Given the description of an element on the screen output the (x, y) to click on. 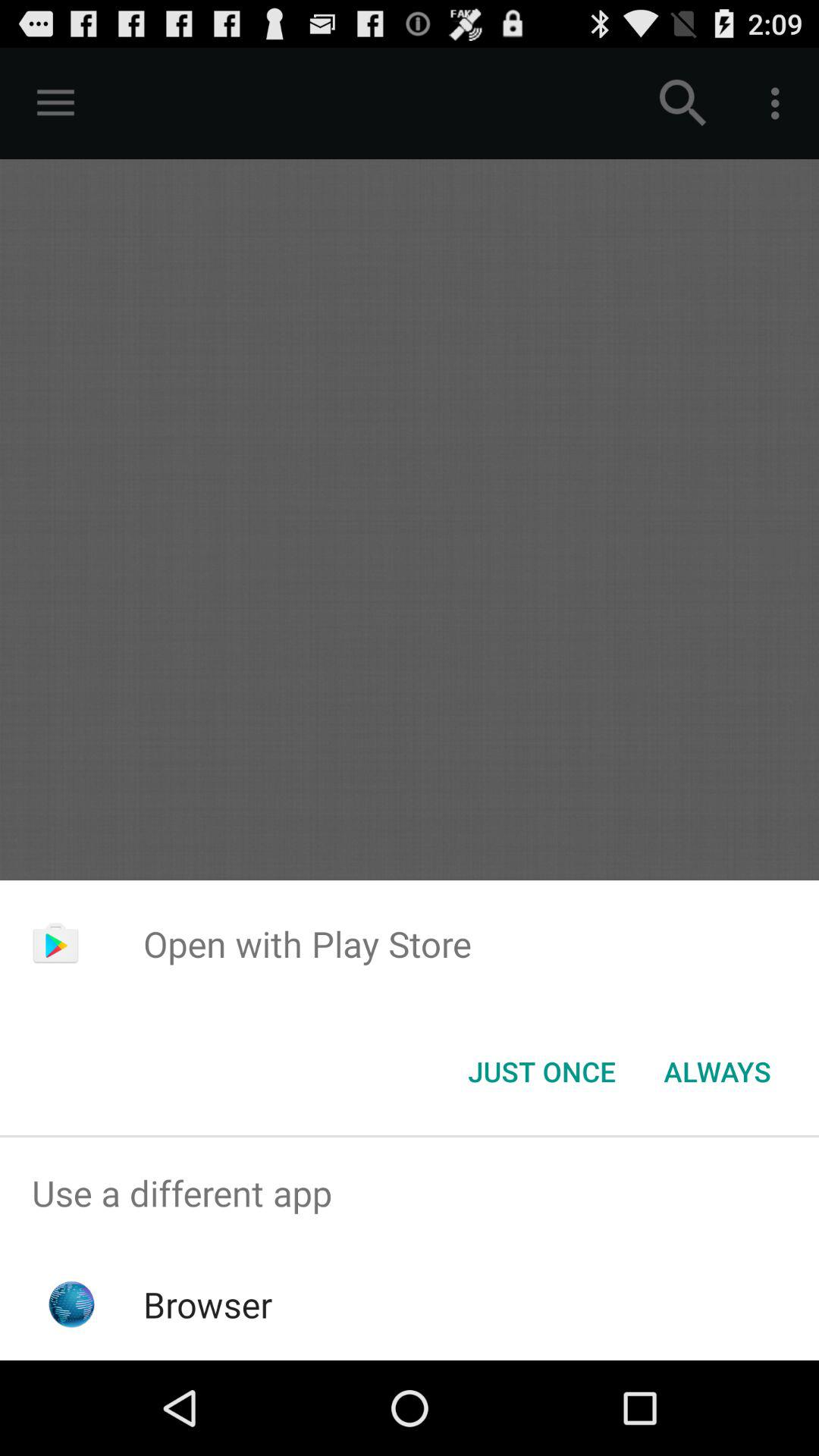
flip to use a different (409, 1192)
